Given the description of an element on the screen output the (x, y) to click on. 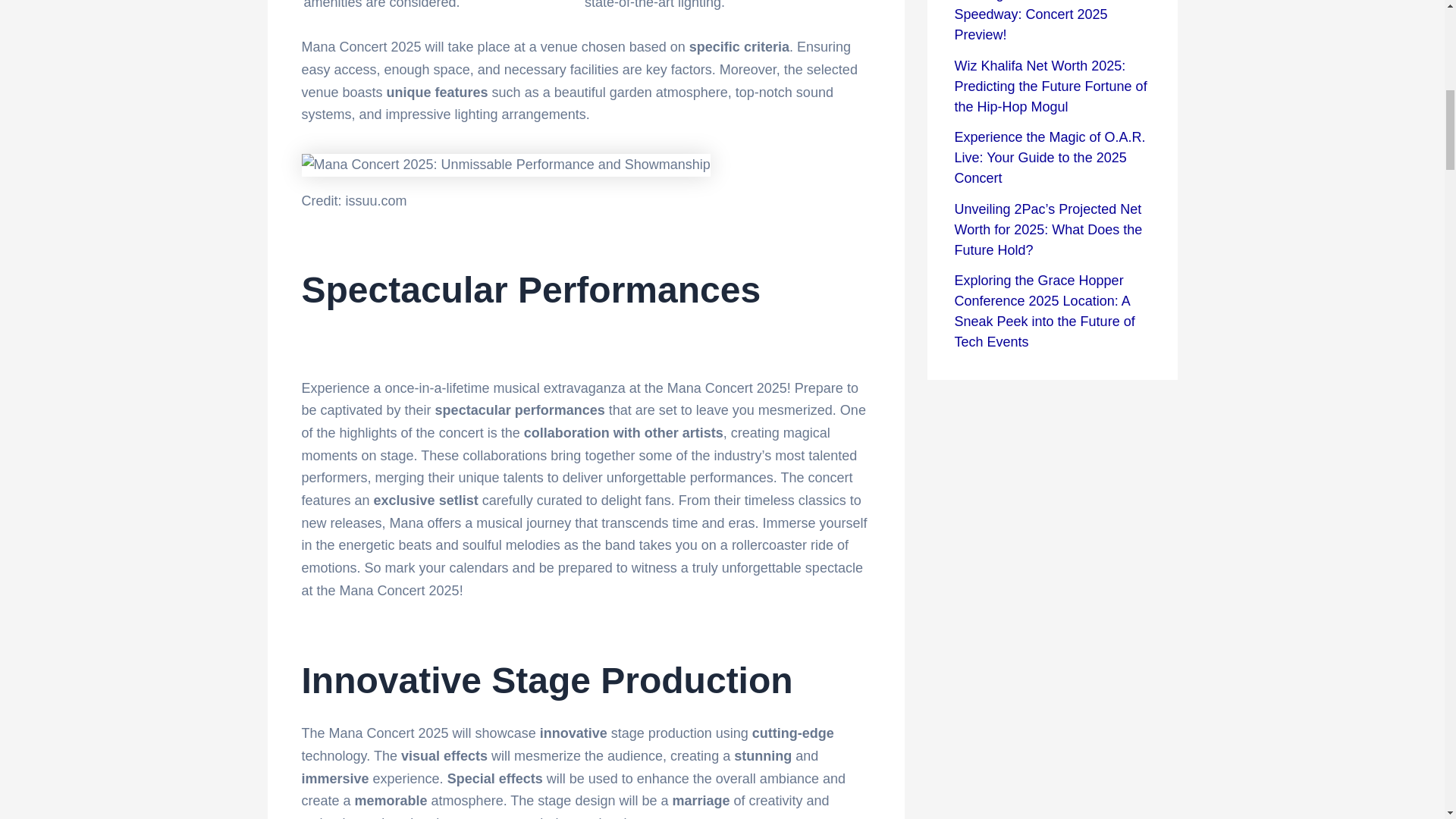
Rocking Out at Newton Speedway: Concert 2025 Preview! (1029, 21)
